Given the description of an element on the screen output the (x, y) to click on. 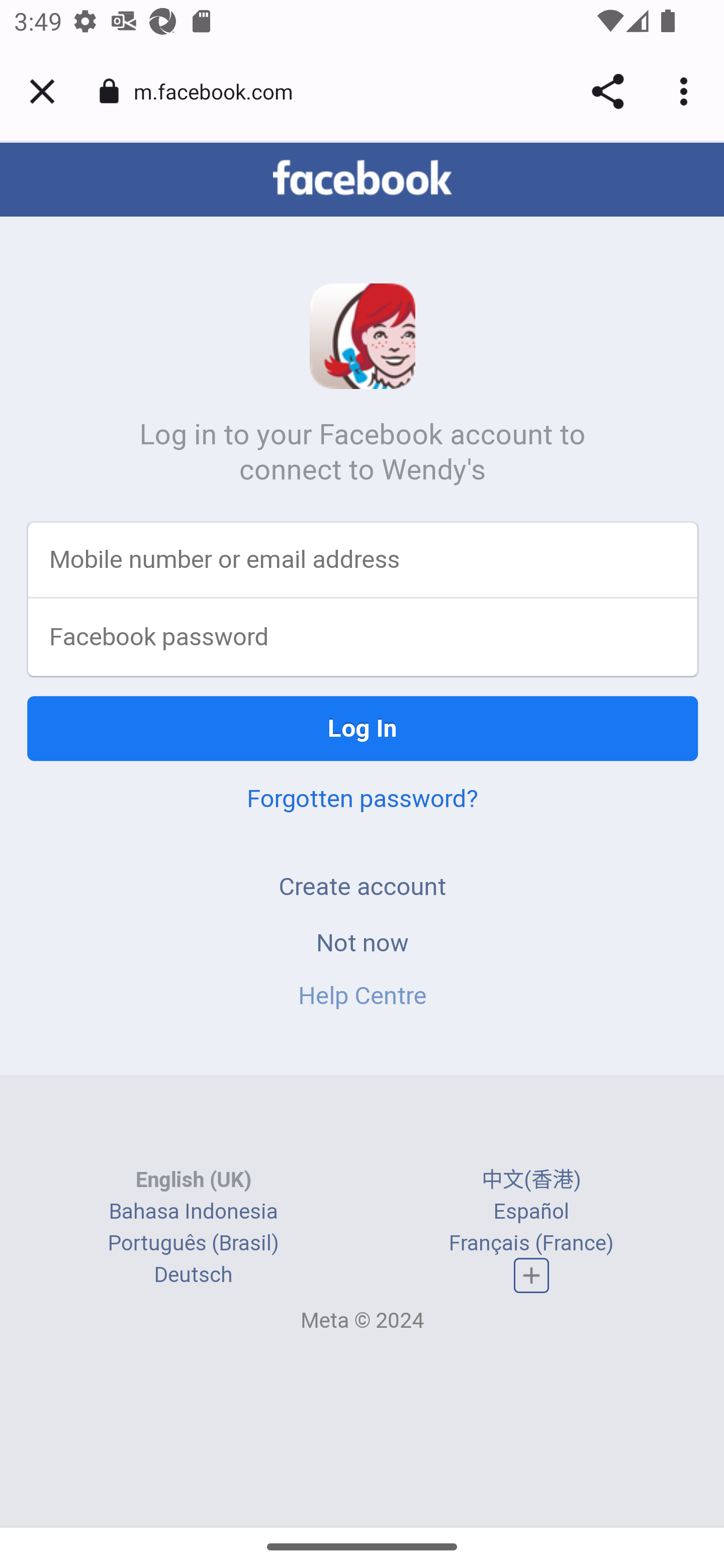
Close tab (42, 91)
Share (607, 91)
More options (687, 91)
Connection is secure (108, 91)
m.facebook.com (219, 90)
facebook (361, 179)
Log In (363, 729)
Forgotten password? (362, 800)
Create account (362, 887)
Not now (361, 943)
Help Centre (361, 996)
中文(香港) (531, 1181)
Bahasa Indonesia (193, 1212)
Español (531, 1212)
Português (Brasil) (193, 1243)
Français (France) (530, 1243)
Complete list of languages (531, 1277)
Deutsch (192, 1275)
